Given the description of an element on the screen output the (x, y) to click on. 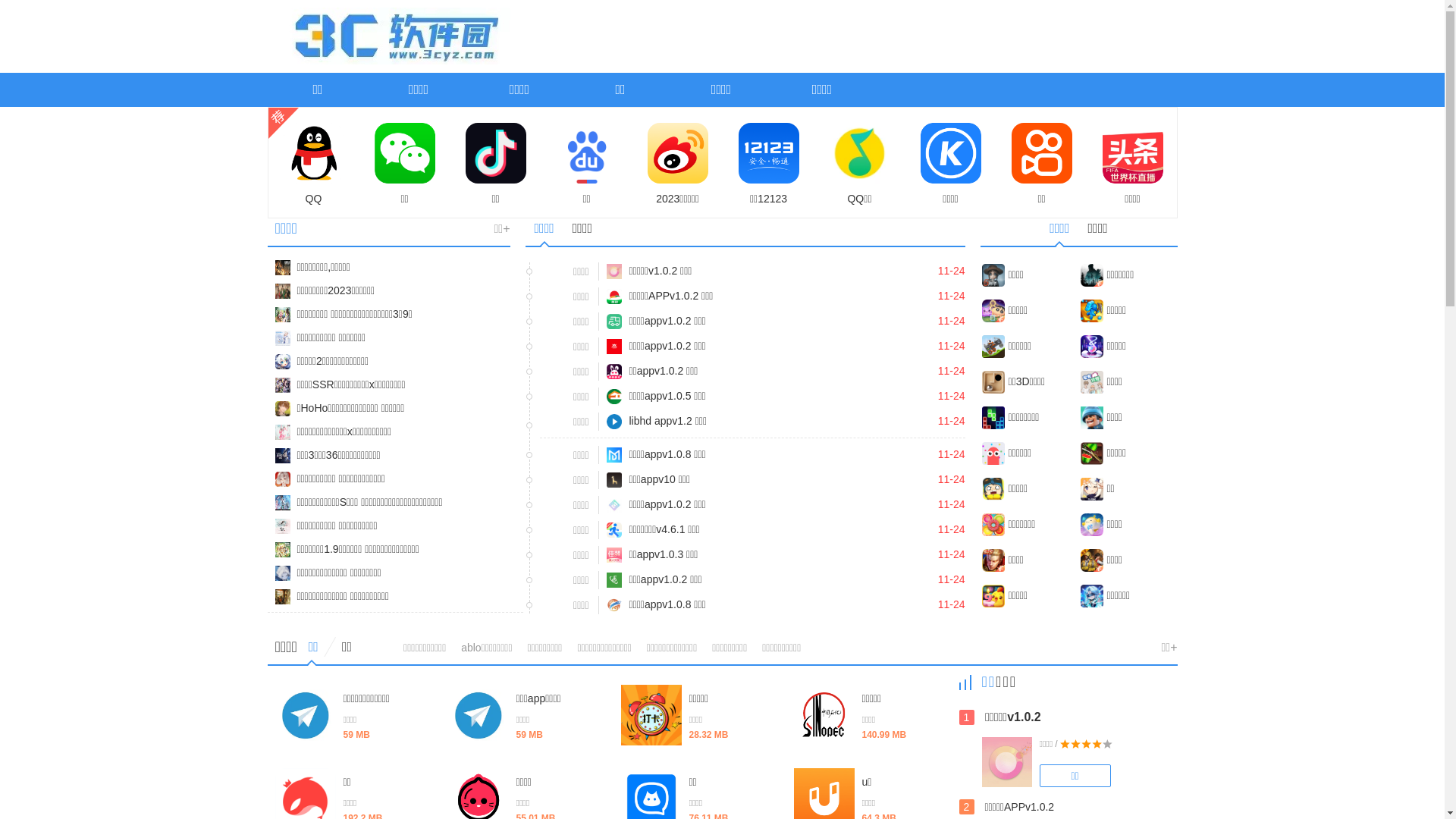
QQ Element type: text (313, 164)
